Given the description of an element on the screen output the (x, y) to click on. 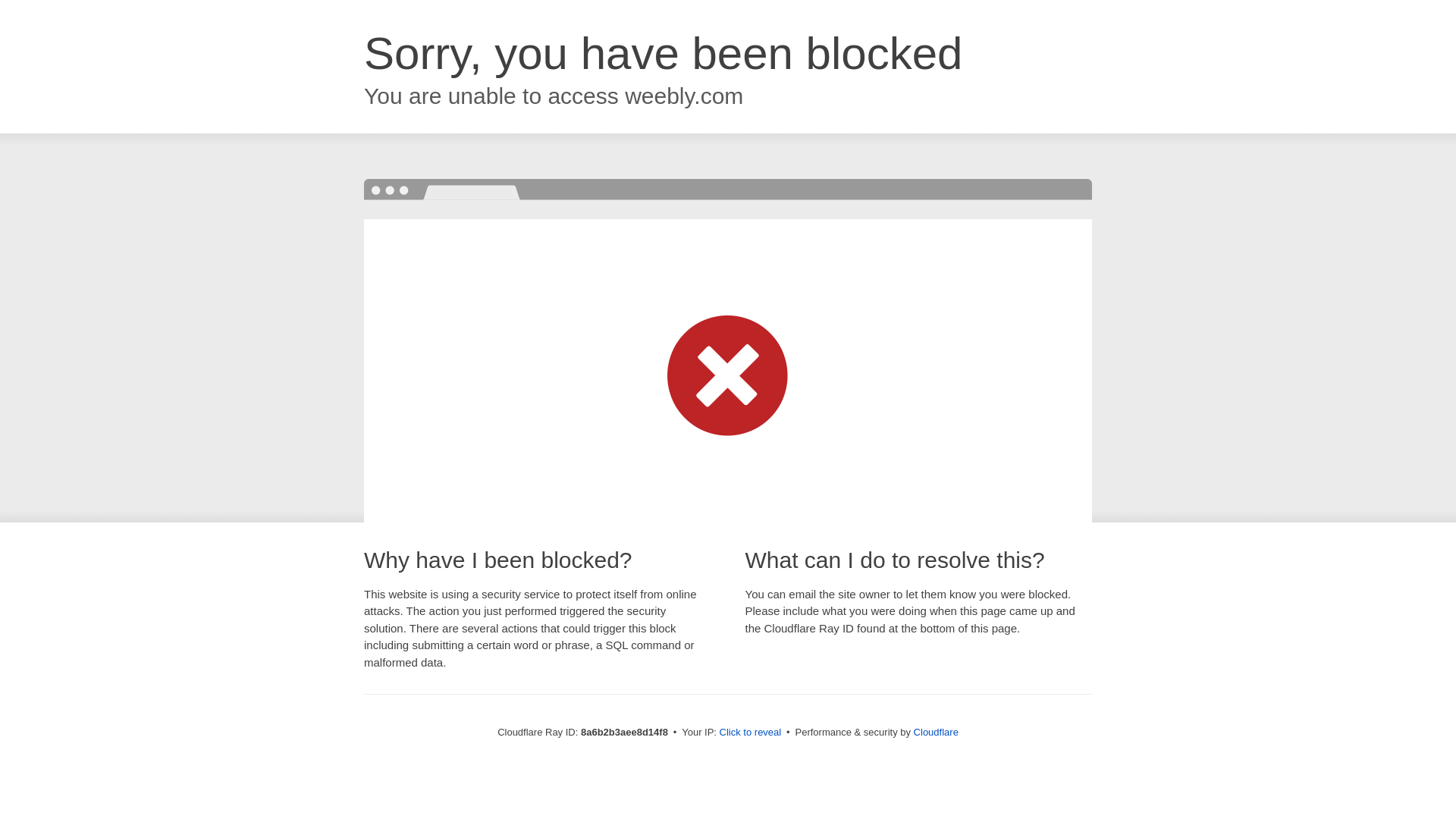
Click to reveal (750, 732)
Cloudflare (936, 731)
